Given the description of an element on the screen output the (x, y) to click on. 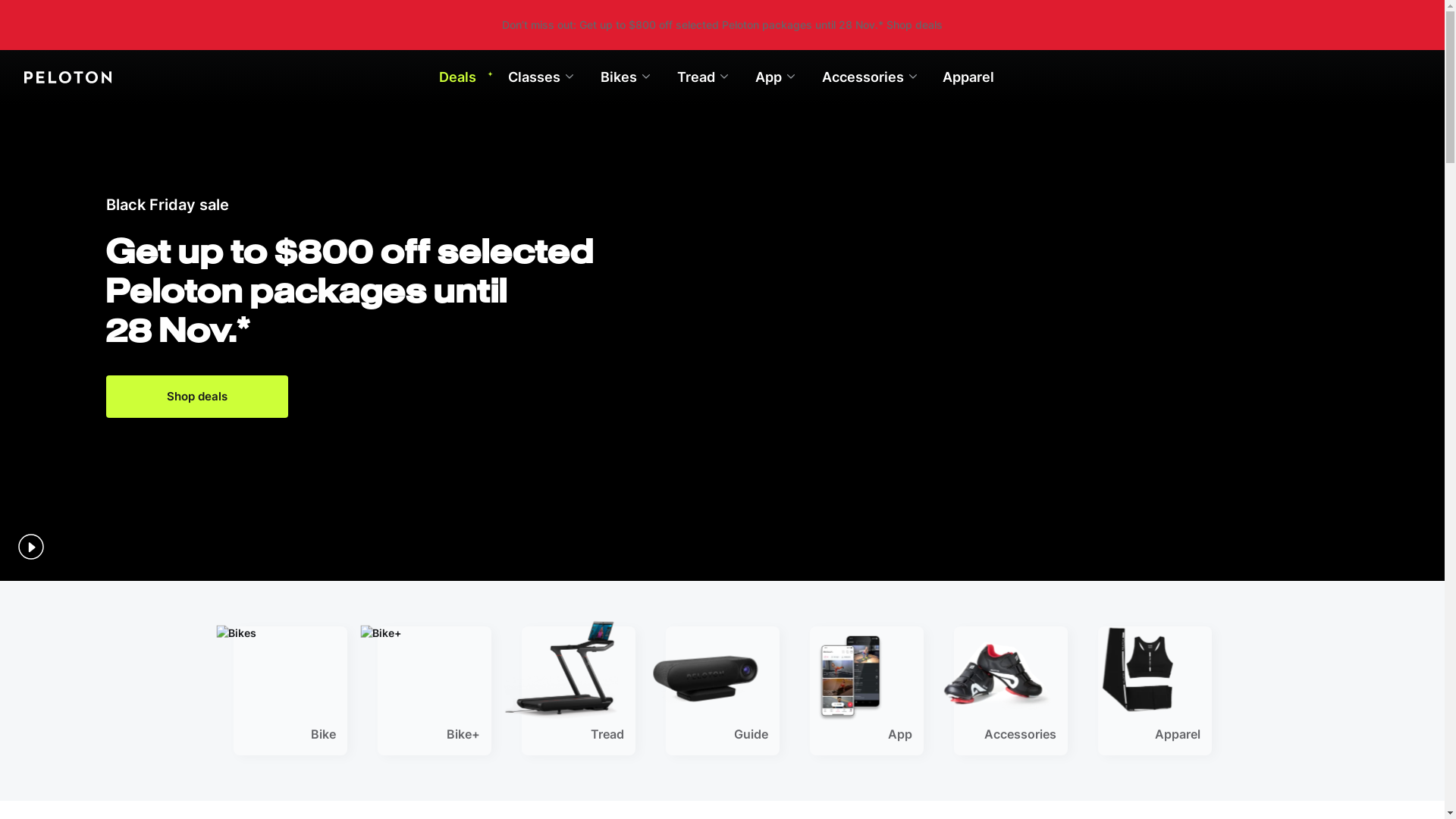
Accessories Element type: text (869, 77)
Accessories Element type: text (1010, 690)
Tread Element type: text (701, 77)
App Element type: text (866, 690)
Apparel Element type: text (1154, 690)
Guide Element type: text (722, 690)
Peloton Logo Element type: text (219, 77)
Bike Element type: text (290, 690)
Deals Element type: text (465, 76)
Tread Element type: text (578, 690)
Apparel Element type: text (967, 76)
Shop deals Element type: text (197, 396)
Bikes Element type: text (624, 77)
App Element type: text (774, 77)
Bike+ Element type: text (434, 690)
Classes Element type: text (540, 77)
